Given the description of an element on the screen output the (x, y) to click on. 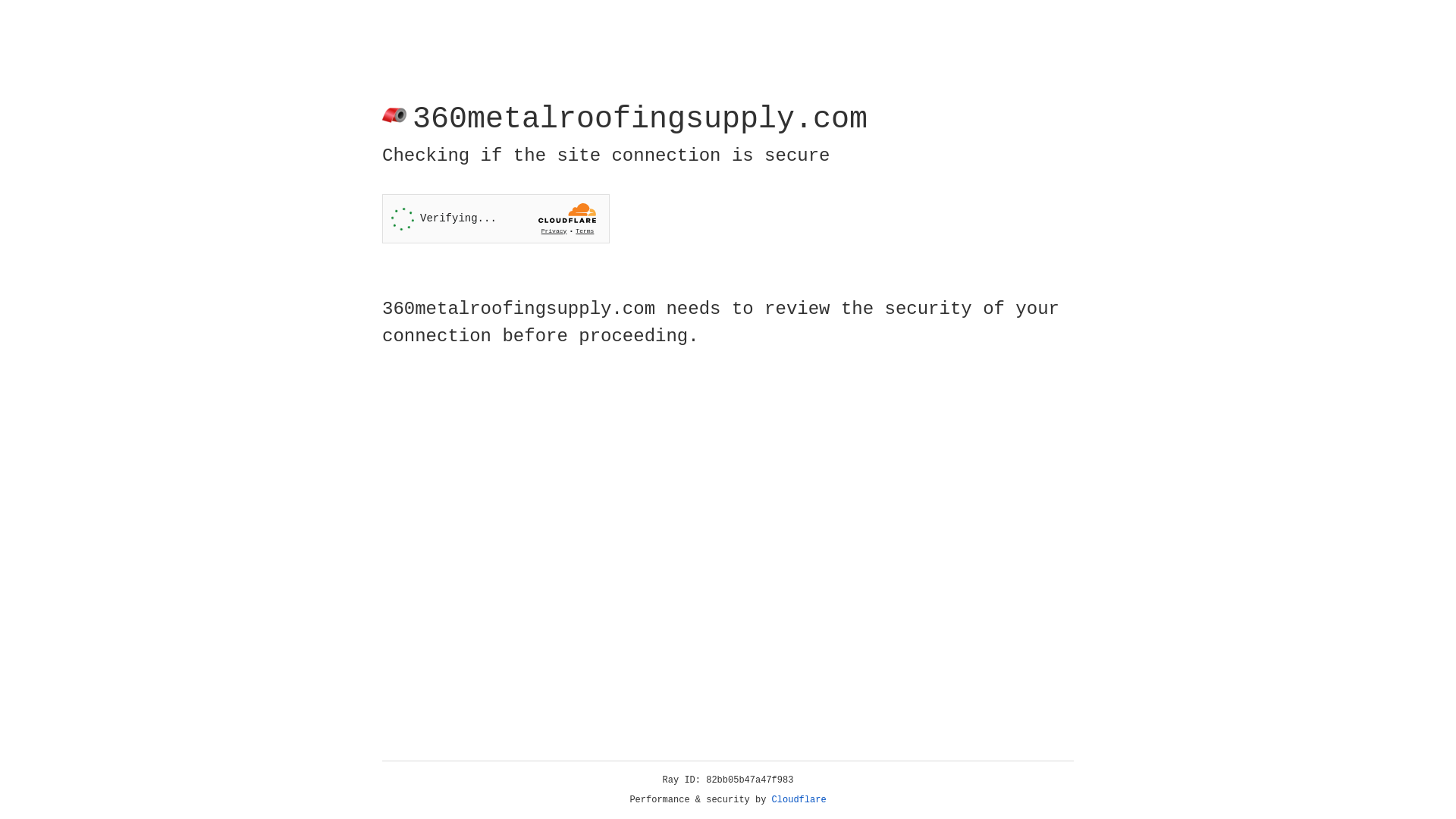
Widget containing a Cloudflare security challenge Element type: hover (495, 218)
Cloudflare Element type: text (798, 799)
